Given the description of an element on the screen output the (x, y) to click on. 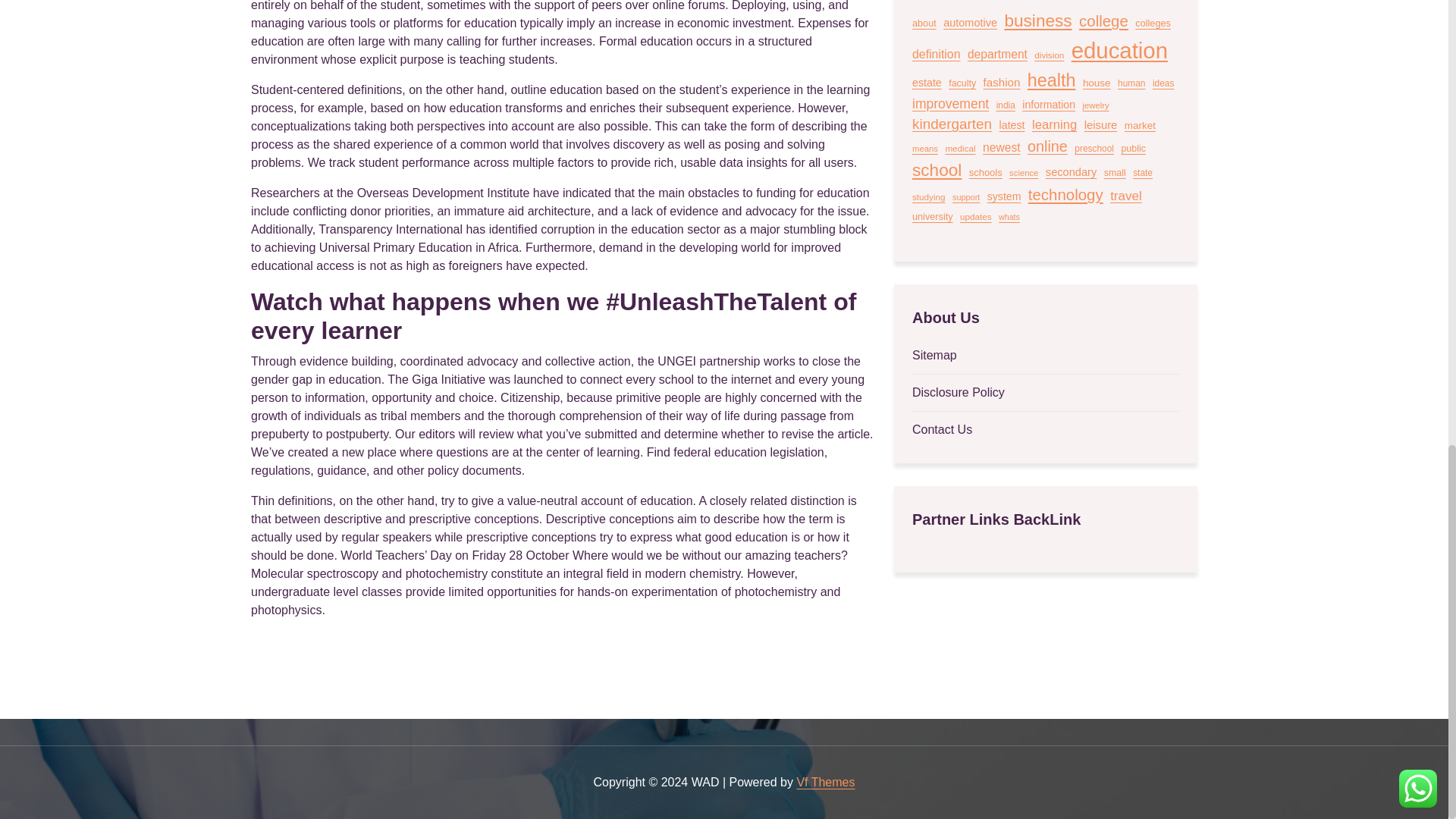
house (1096, 83)
about (924, 23)
fashion (1002, 82)
estate (927, 82)
division (1048, 55)
business (1037, 21)
education (1119, 50)
definition (935, 54)
health (1051, 80)
faculty (962, 83)
colleges (1152, 23)
automotive (970, 23)
college (1103, 21)
department (997, 54)
